Given the description of an element on the screen output the (x, y) to click on. 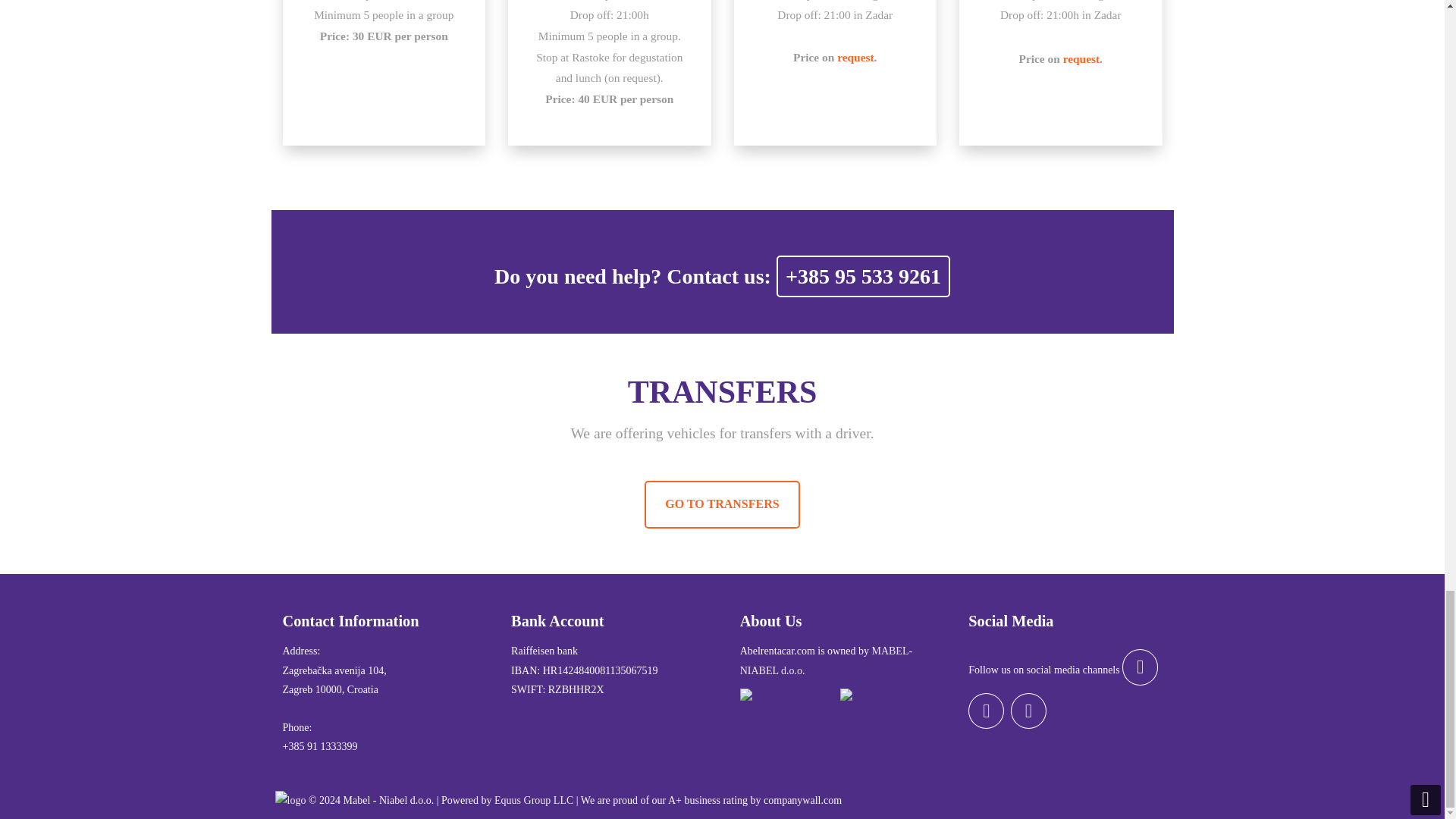
GO TO TRANSFERS (722, 504)
request (855, 56)
request (1080, 58)
Equus Group LLC (534, 799)
MABEL-NIABEL d.o.o. (825, 660)
